Given the description of an element on the screen output the (x, y) to click on. 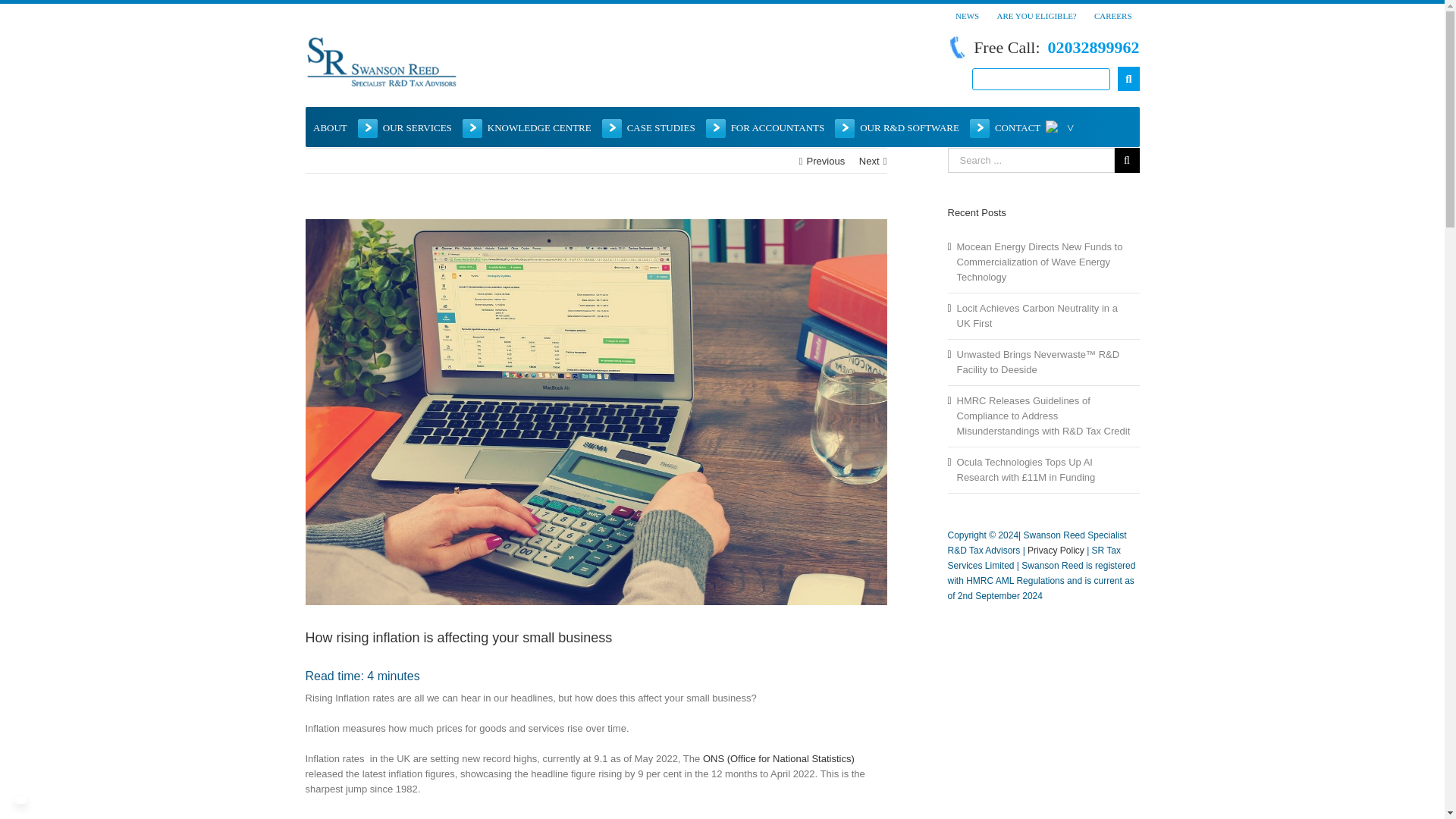
CAREERS (1113, 12)
ABOUT (345, 127)
CONTACT (1016, 127)
KNOWLEDGE CENTRE (554, 127)
FOR ACCOUNTANTS (792, 127)
NEWS (967, 12)
ARE YOU ELIGIBLE? (1035, 12)
CASE STUDIES (676, 127)
Previous (825, 161)
